Given the description of an element on the screen output the (x, y) to click on. 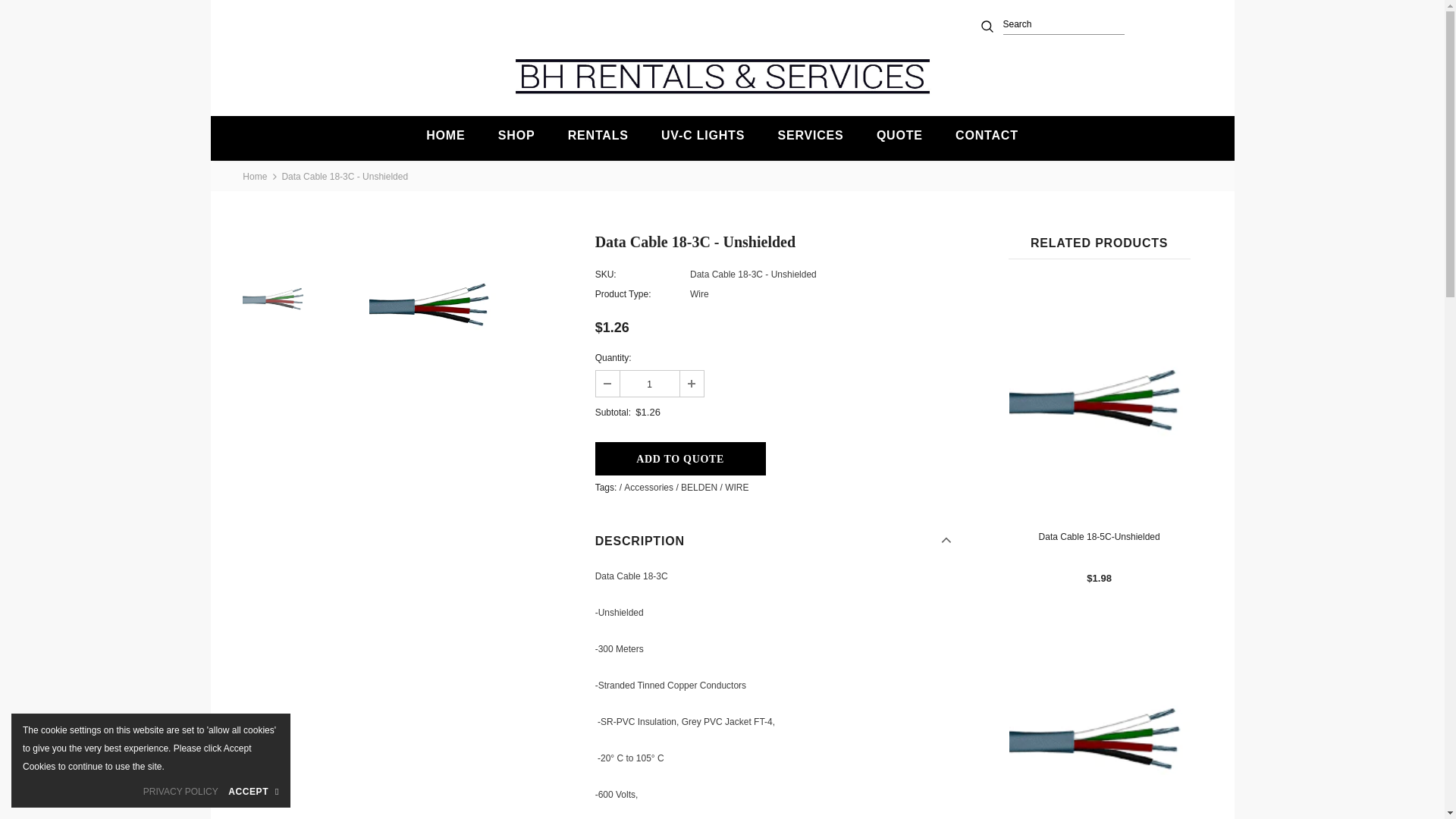
0 Element type: text (1150, 23)
SERVICES Element type: text (811, 138)
SHOP Element type: text (516, 138)
WIRE Element type: text (736, 487)
CONTACT Element type: text (986, 138)
Data Cable 18-5C-Unshielded Element type: text (1099, 536)
Accessories Element type: text (648, 487)
QUOTE Element type: text (899, 138)
BELDEN Element type: text (698, 487)
DESCRIPTION Element type: text (773, 539)
HOME Element type: text (445, 138)
RENTALS Element type: text (597, 138)
UV-C LIGHTS Element type: text (702, 138)
Logo Element type: hover (722, 75)
Home Element type: text (254, 176)
PRIVACY POLICY Element type: text (180, 791)
ADD TO QUOTE Element type: text (680, 458)
